Given the description of an element on the screen output the (x, y) to click on. 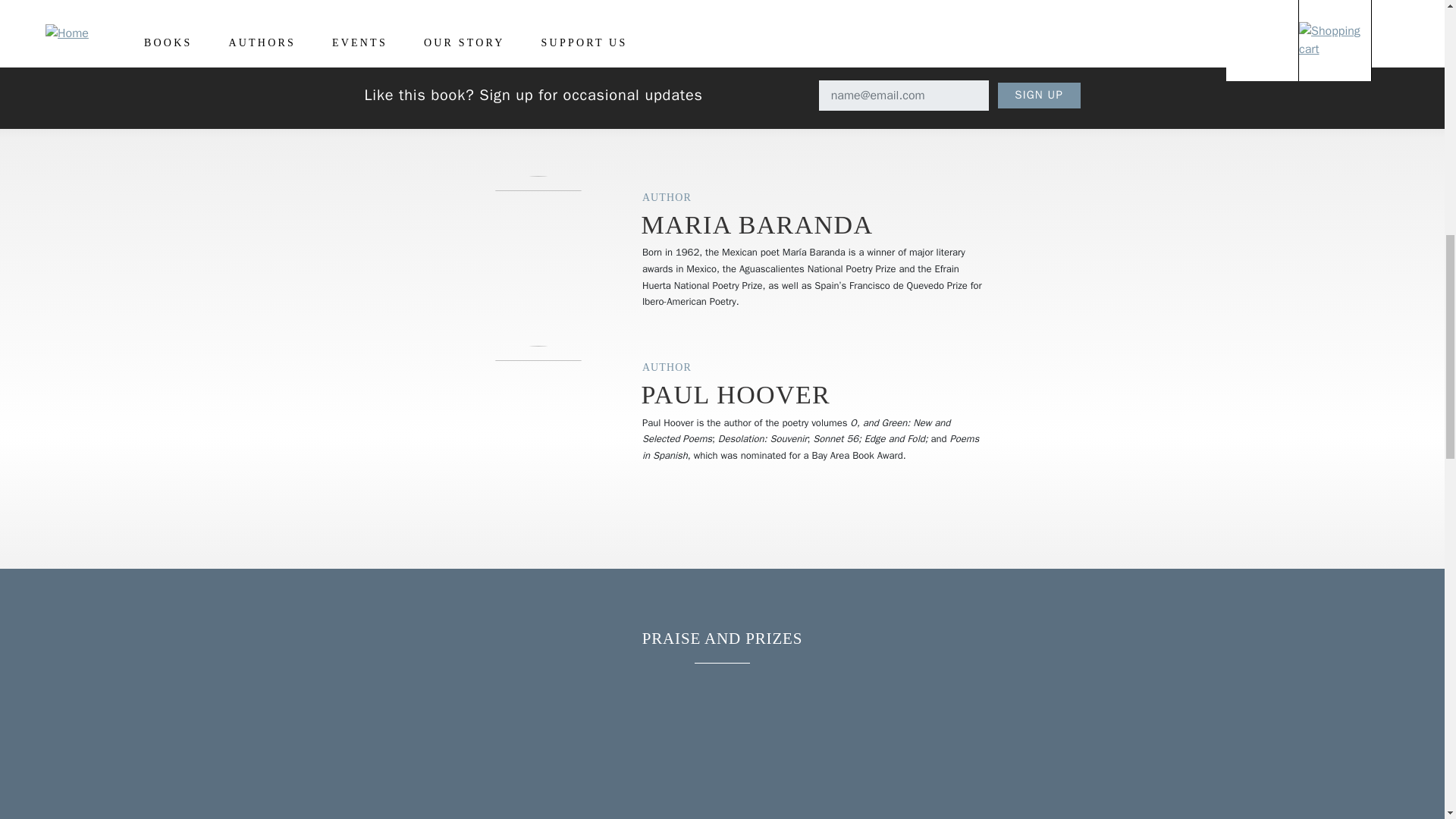
Sign Up (1038, 95)
PAUL HOOVER (736, 394)
Sign Up (1038, 95)
MARIA BARANDA (757, 224)
